Given the description of an element on the screen output the (x, y) to click on. 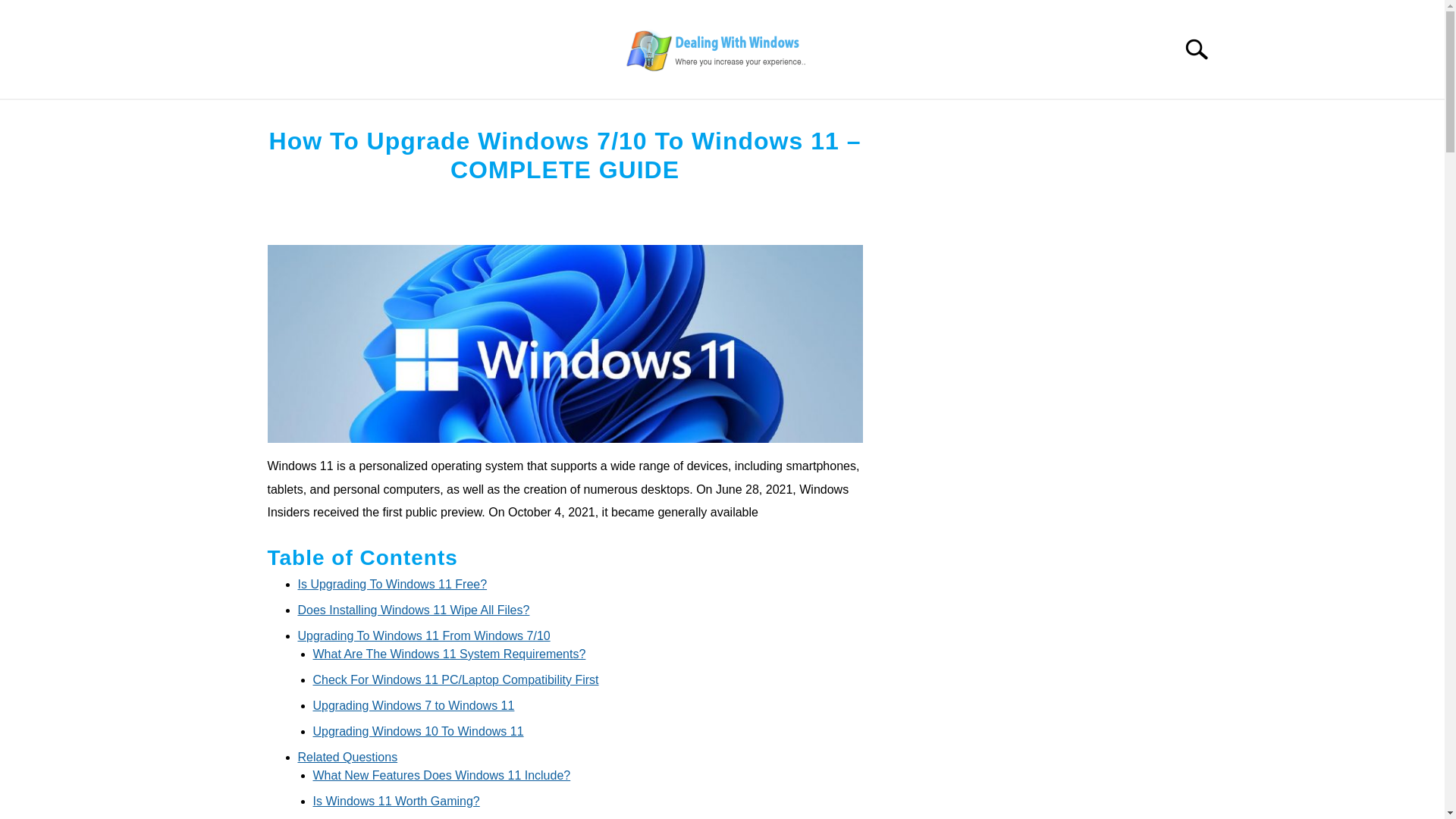
What New Features Does Windows 11 Include? (441, 775)
DOWNLOADS (1136, 117)
Is Upgrading To Windows 11 Free? (391, 584)
VIDEOS (1035, 117)
Search (1203, 49)
What Are The Windows 11 System Requirements? (449, 653)
Upgrading Windows 10 To Windows 11 (417, 730)
MICROSOFT WINDOWS (339, 117)
Is Windows 11 Worth Gaming? (396, 800)
Related Questions (347, 757)
